Given the description of an element on the screen output the (x, y) to click on. 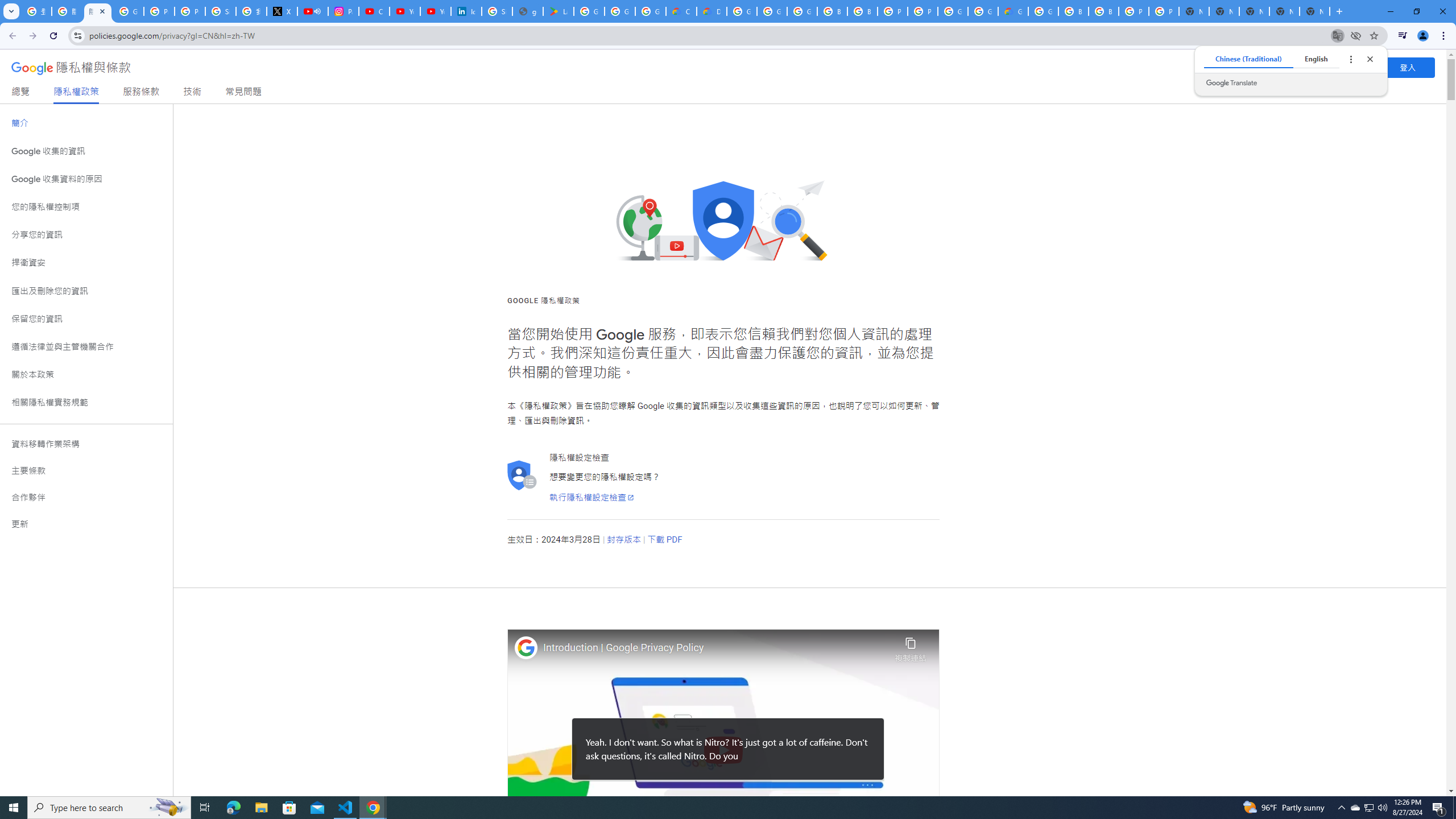
Translate options (1349, 58)
Google Cloud Estimate Summary (1012, 11)
Google Cloud Platform (741, 11)
Browse Chrome as a guest - Computer - Google Chrome Help (832, 11)
